Given the description of an element on the screen output the (x, y) to click on. 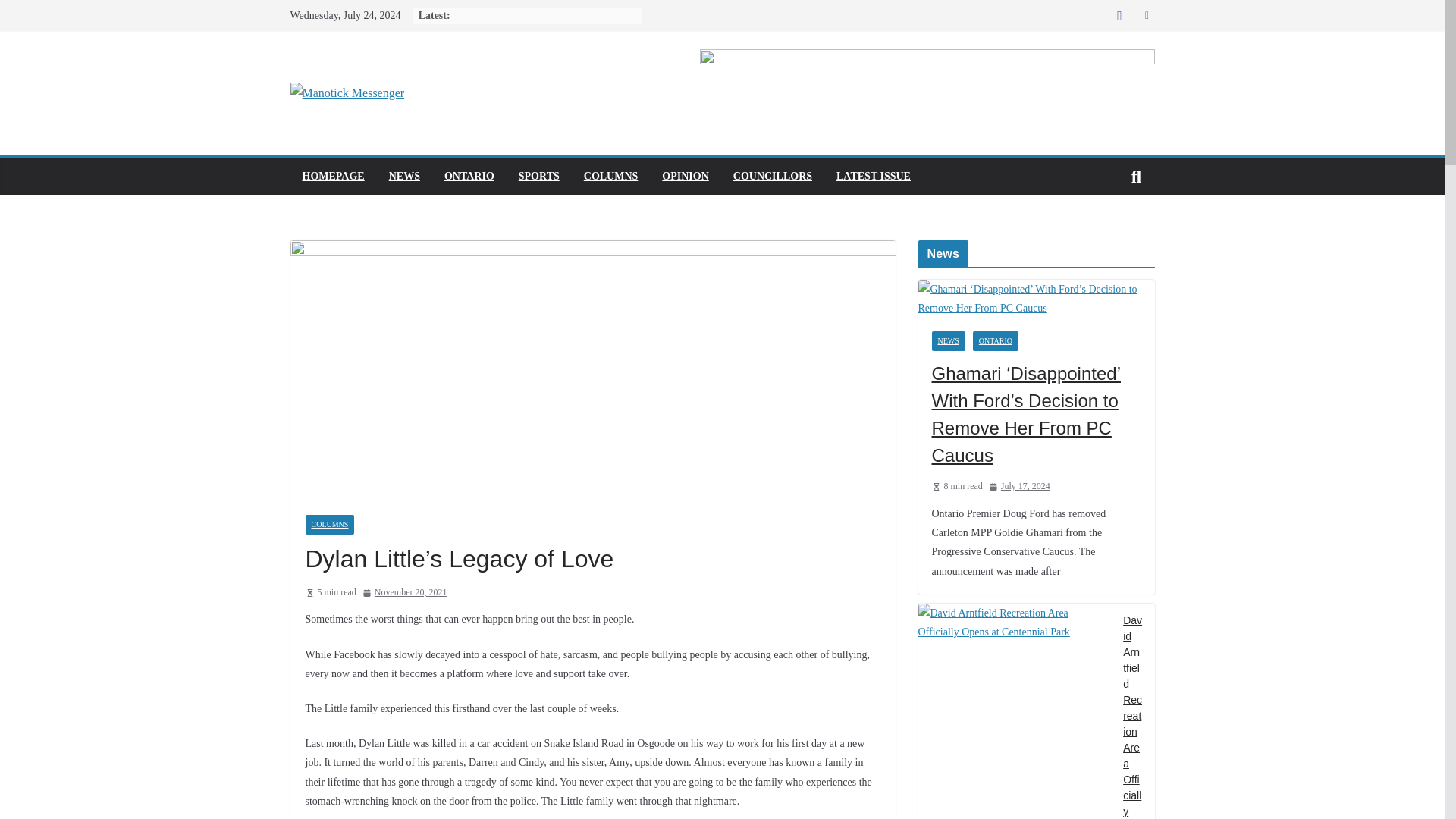
COLUMNS (328, 524)
12:14 pm (404, 592)
ONTARIO (994, 341)
OPINION (684, 176)
LATEST ISSUE (873, 176)
HOMEPAGE (332, 176)
NEWS (947, 341)
COUNCILLORS (772, 176)
ONTARIO (469, 176)
November 20, 2021 (404, 592)
SPORTS (538, 176)
July 17, 2024 (1018, 486)
NEWS (404, 176)
COLUMNS (611, 176)
